Given the description of an element on the screen output the (x, y) to click on. 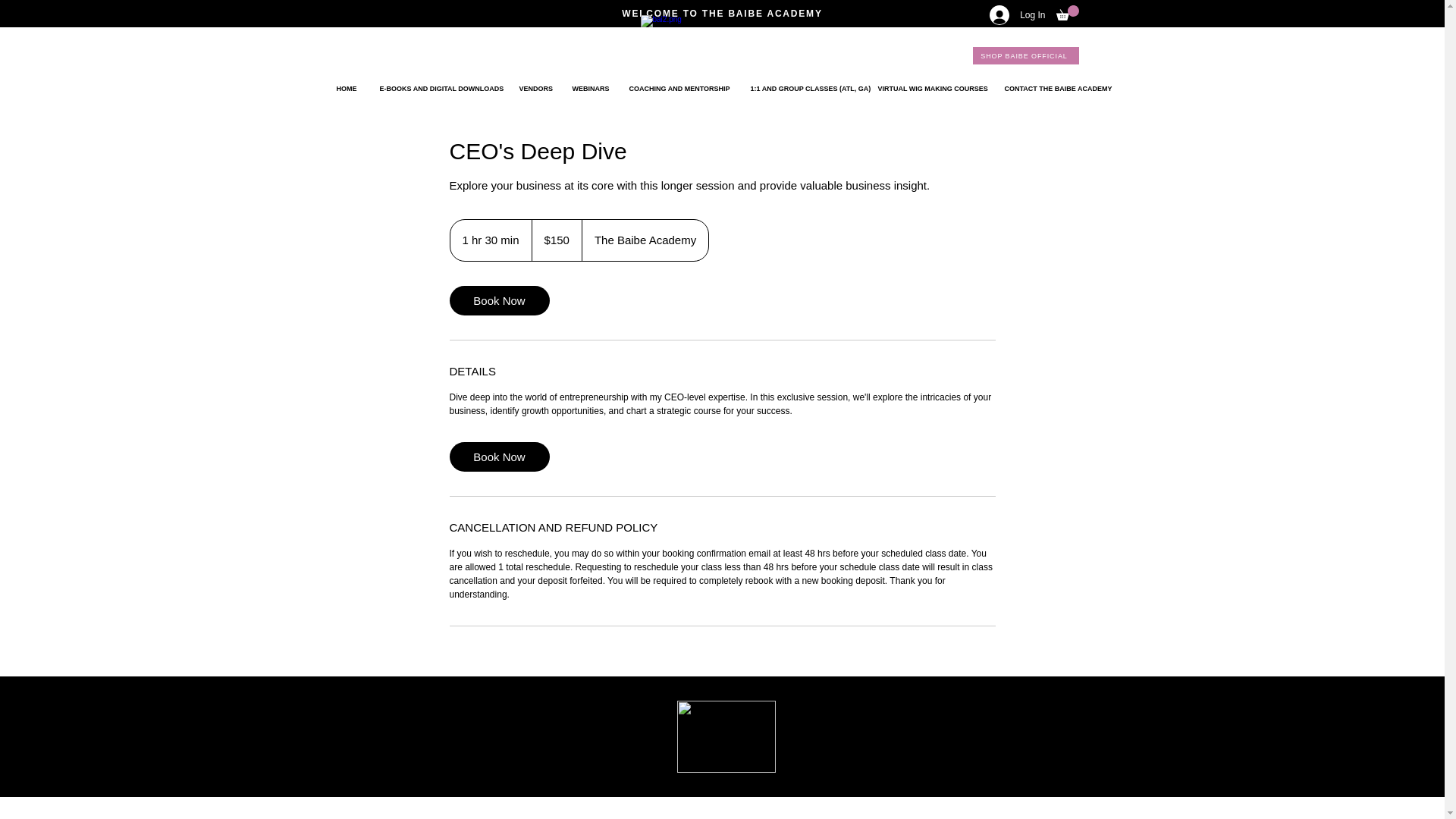
VIRTUAL WIG MAKING COURSES (929, 88)
HOME (346, 88)
Log In (1016, 14)
WEBINARS (588, 88)
COACHING AND MENTORSHIP (677, 88)
VENDORS (534, 88)
Book Now (498, 456)
CONTACT THE BAIBE ACADEMY (1055, 88)
Book Now (498, 300)
SHOP BAIBE OFFICIAL (1025, 55)
